Given the description of an element on the screen output the (x, y) to click on. 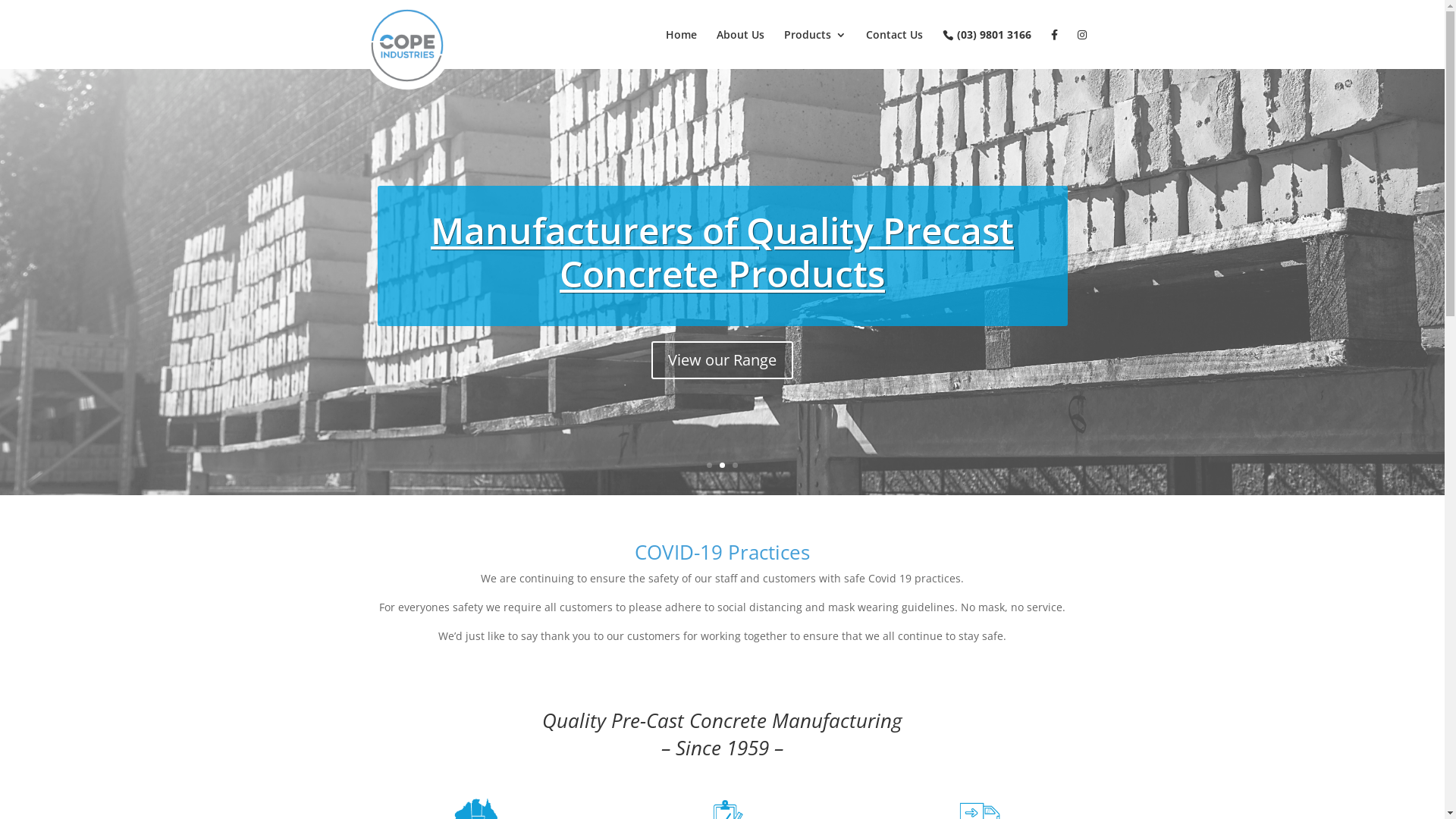
About Us Element type: text (739, 49)
1 Element type: text (709, 464)
Contact Us Element type: text (894, 49)
Manufacturers of Quality Precast Concrete Products Element type: text (721, 251)
Products Element type: text (815, 49)
Home Element type: text (680, 49)
3 Element type: text (734, 464)
2 Element type: text (721, 464)
(03) 9801 3166 Element type: text (985, 48)
View our Range Element type: text (722, 360)
